Given the description of an element on the screen output the (x, y) to click on. 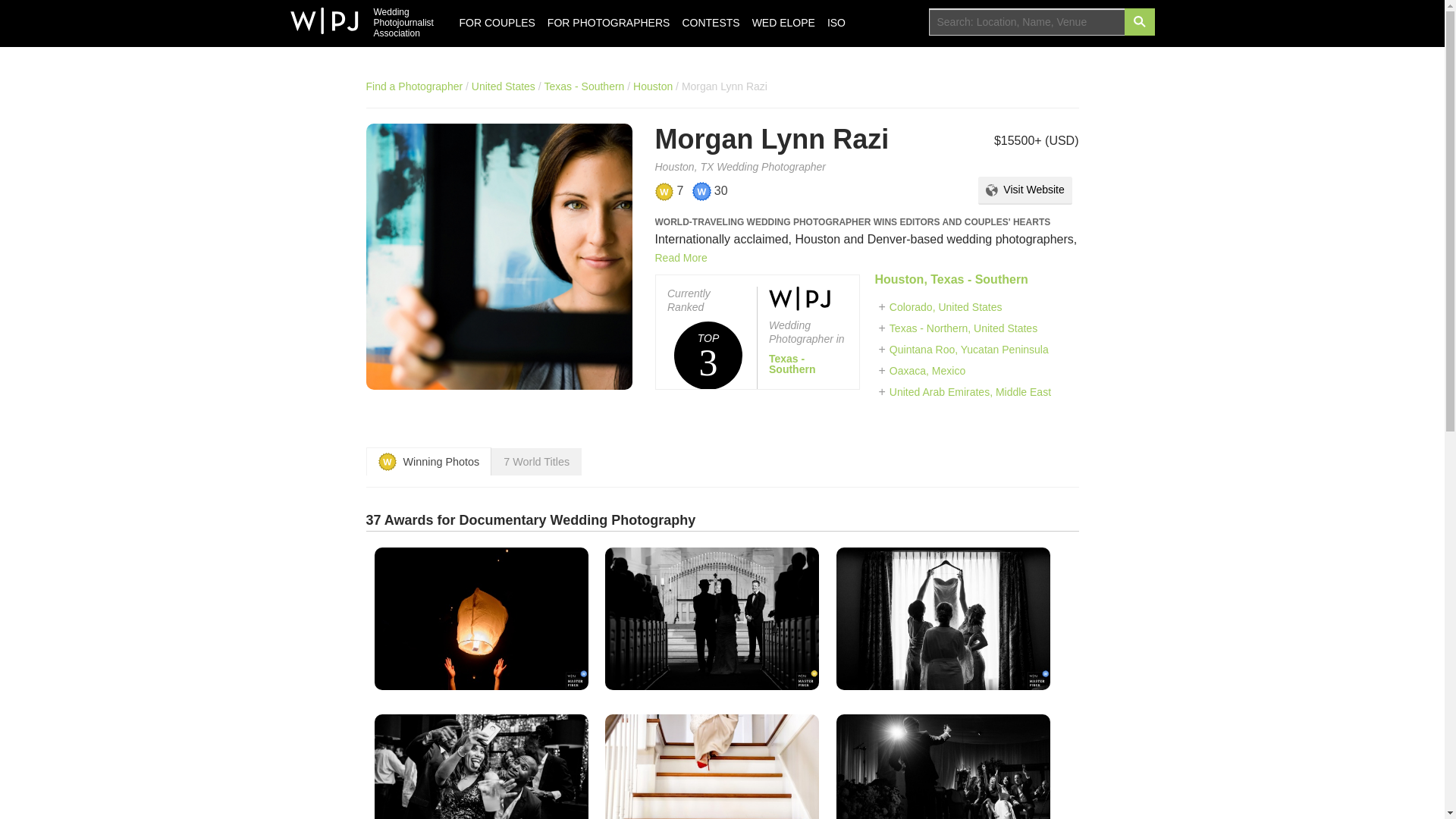
WPJA.com Home (353, 12)
FOR COUPLES (353, 12)
CONTESTS (496, 23)
WED ELOPE (710, 23)
Apply (783, 23)
FOR PHOTOGRAPHERS (1139, 22)
